Given the description of an element on the screen output the (x, y) to click on. 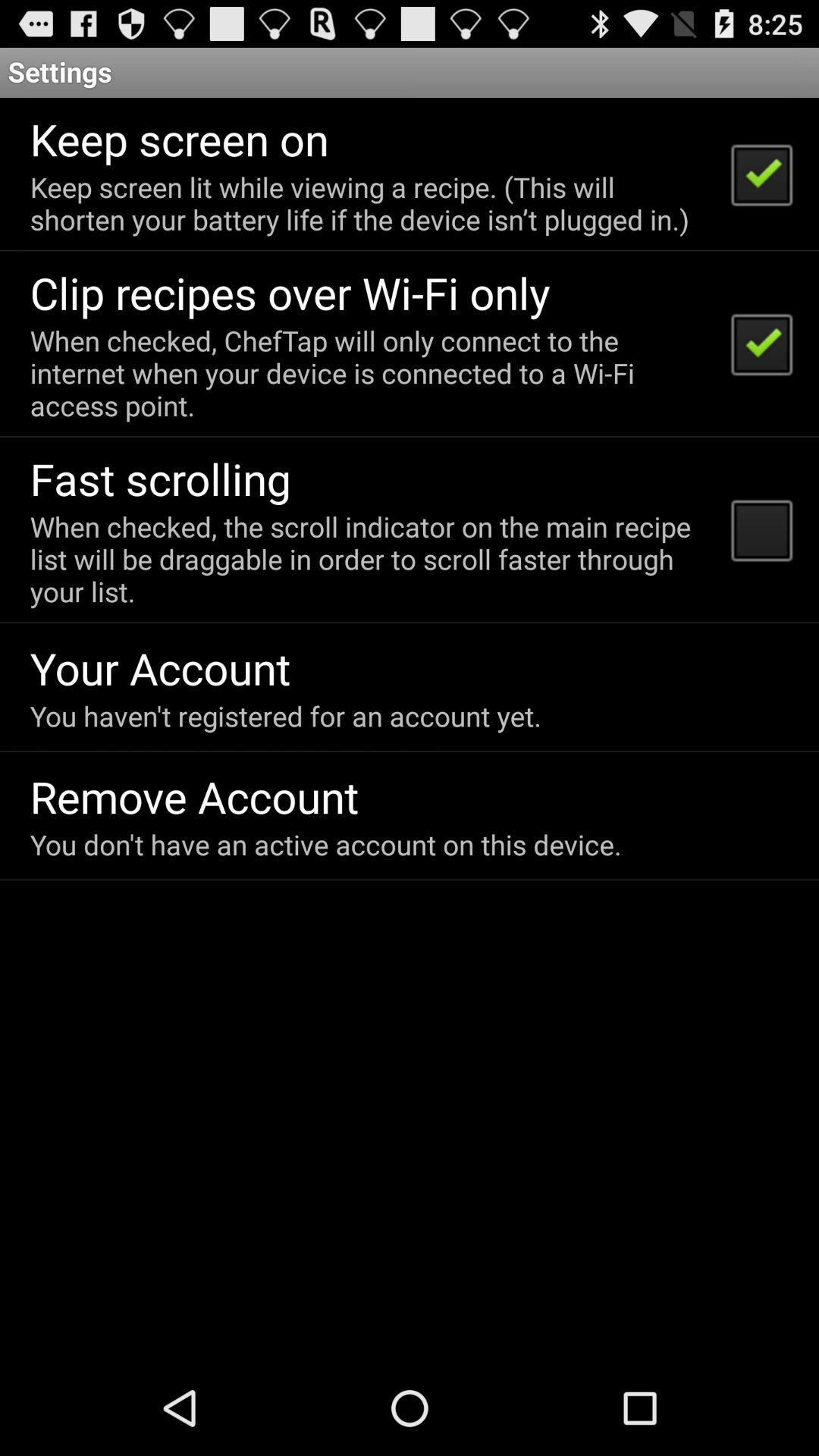
press item below the when checked cheftap icon (160, 478)
